Given the description of an element on the screen output the (x, y) to click on. 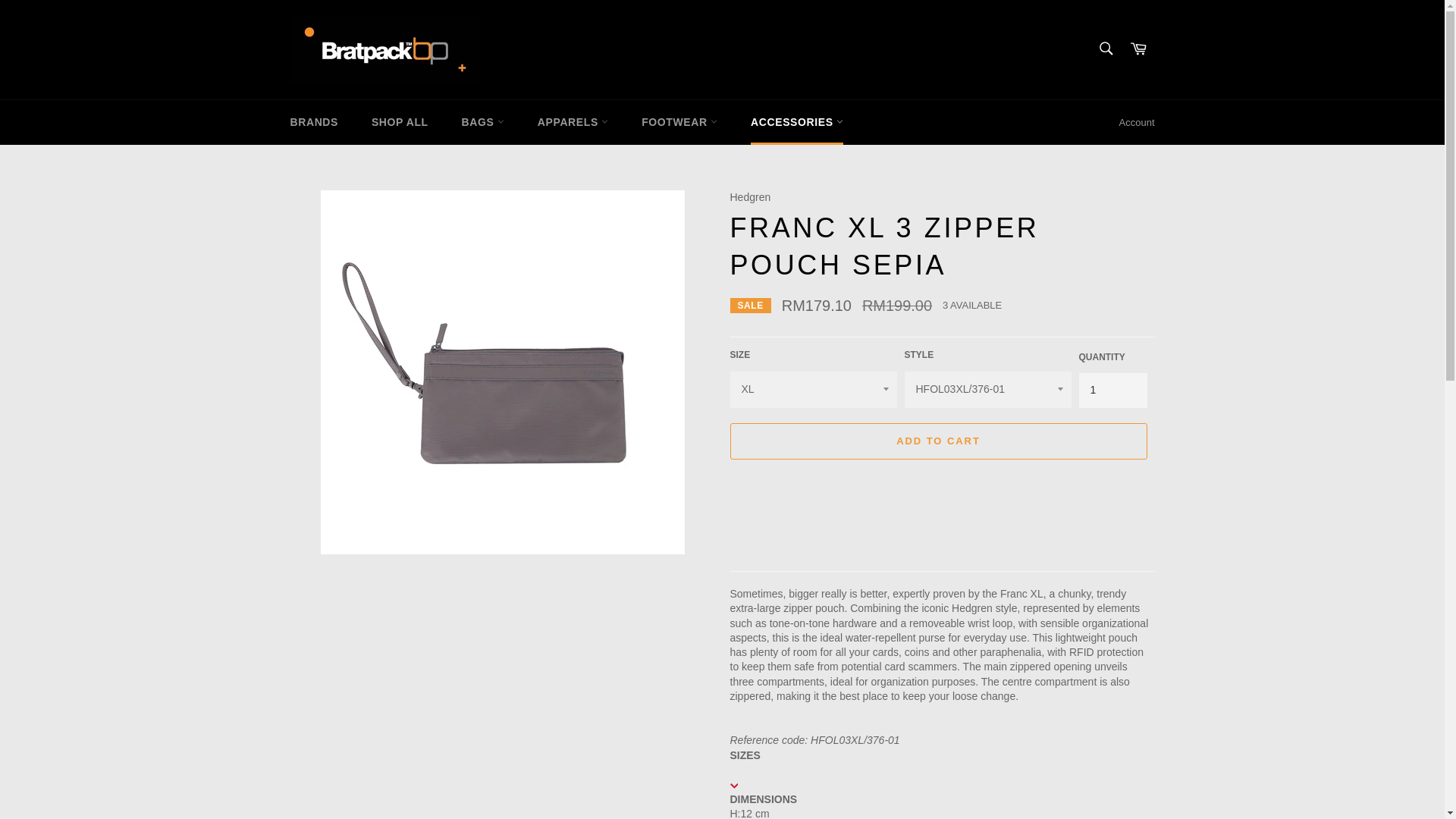
Search (1104, 48)
1 (1112, 390)
BRANDS (314, 121)
BAGS (482, 121)
Cart (1138, 49)
SHOP ALL (400, 121)
